Given the description of an element on the screen output the (x, y) to click on. 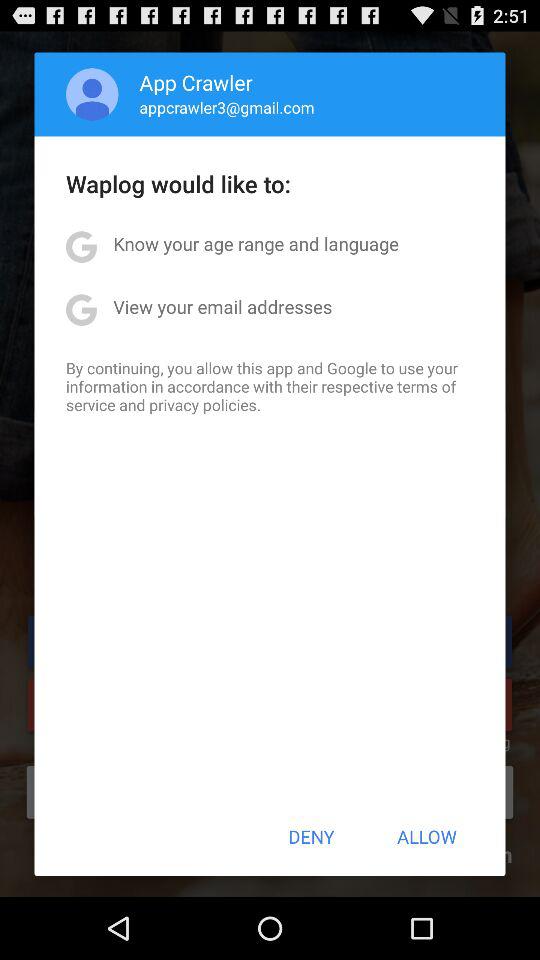
turn on icon above the appcrawler3@gmail.com (195, 82)
